Given the description of an element on the screen output the (x, y) to click on. 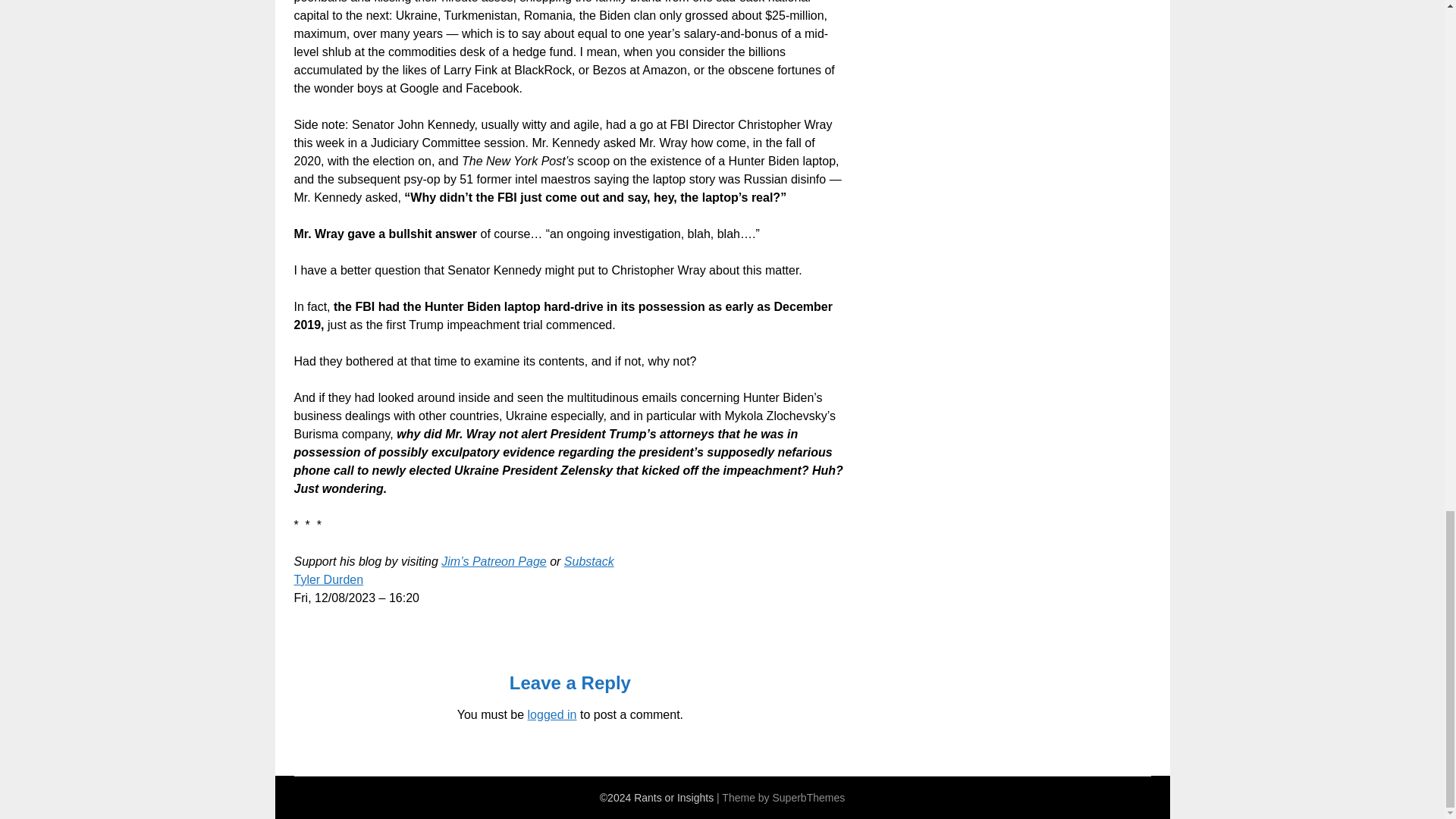
SuperbThemes (807, 797)
logged in (551, 714)
Substack (589, 561)
View user profile. (329, 579)
Tyler Durden (329, 579)
